Given the description of an element on the screen output the (x, y) to click on. 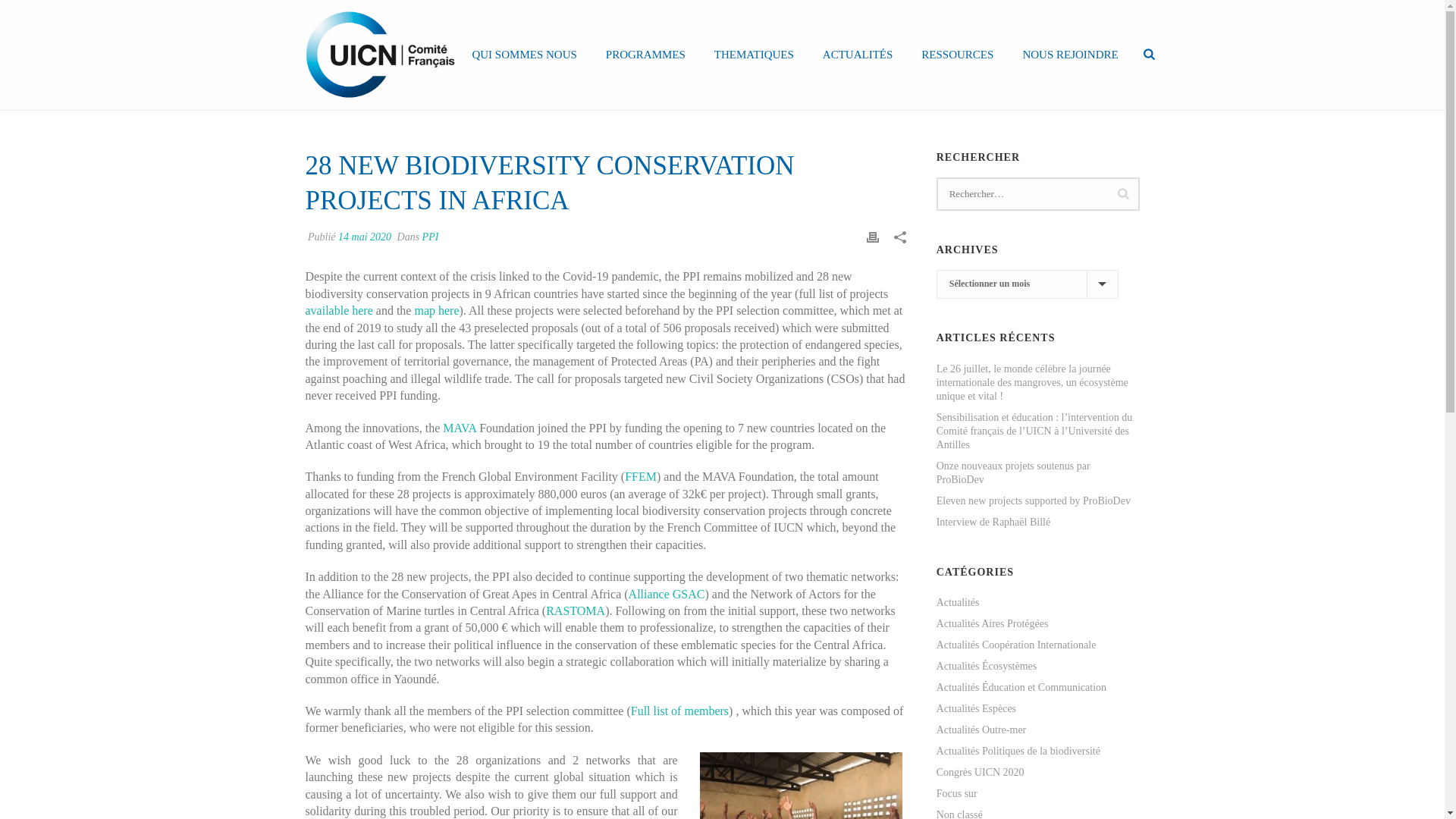
NOUS REJOINDRE (1070, 53)
PROGRAMMES (645, 53)
THEMATIQUES (753, 53)
QUI SOMMES NOUS (523, 53)
PROGRAMMES (645, 53)
QUI SOMMES NOUS (523, 53)
RESSOURCES (957, 53)
